Given the description of an element on the screen output the (x, y) to click on. 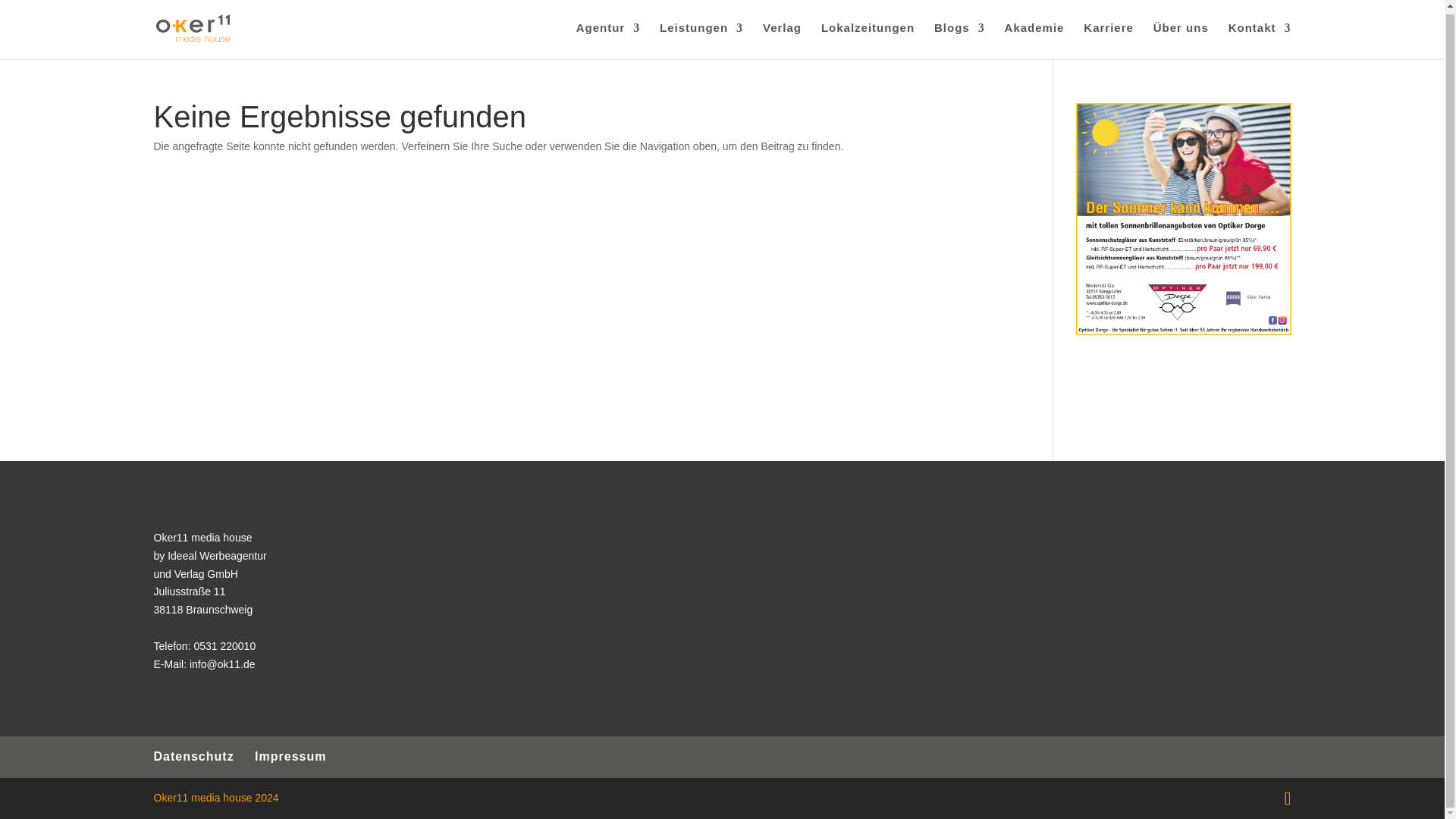
Kontakt (1259, 40)
Datenschutz (192, 756)
Karriere (1108, 40)
Akademie (1034, 40)
Verlag (782, 40)
Agentur (608, 40)
Leistungen (700, 40)
Impressum (290, 756)
Blogs (959, 40)
Lokalzeitungen (867, 40)
